Given the description of an element on the screen output the (x, y) to click on. 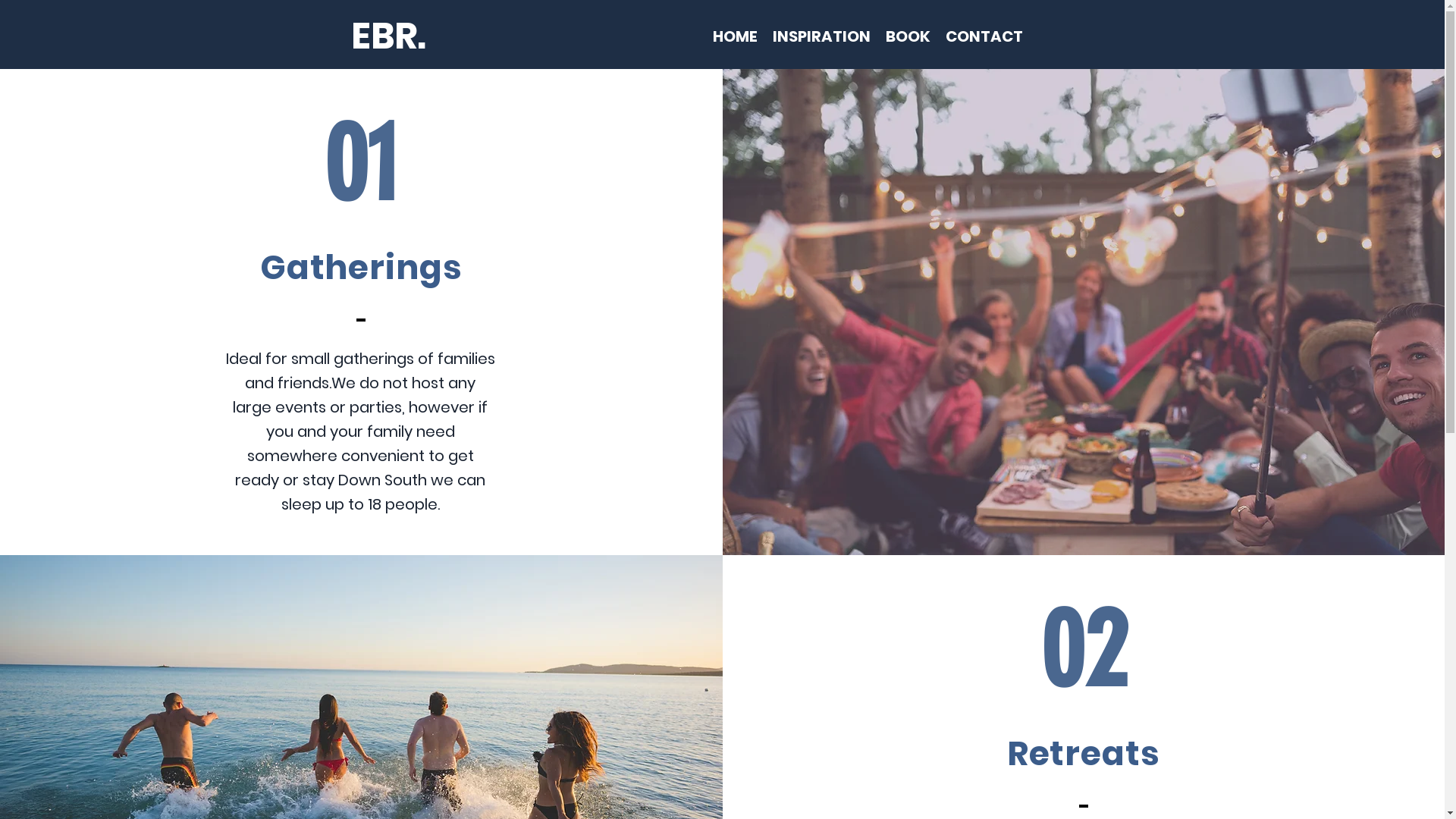
CONTACT Element type: text (984, 36)
INSPIRATION Element type: text (821, 36)
HOME Element type: text (735, 36)
BOOK Element type: text (908, 36)
